Given the description of an element on the screen output the (x, y) to click on. 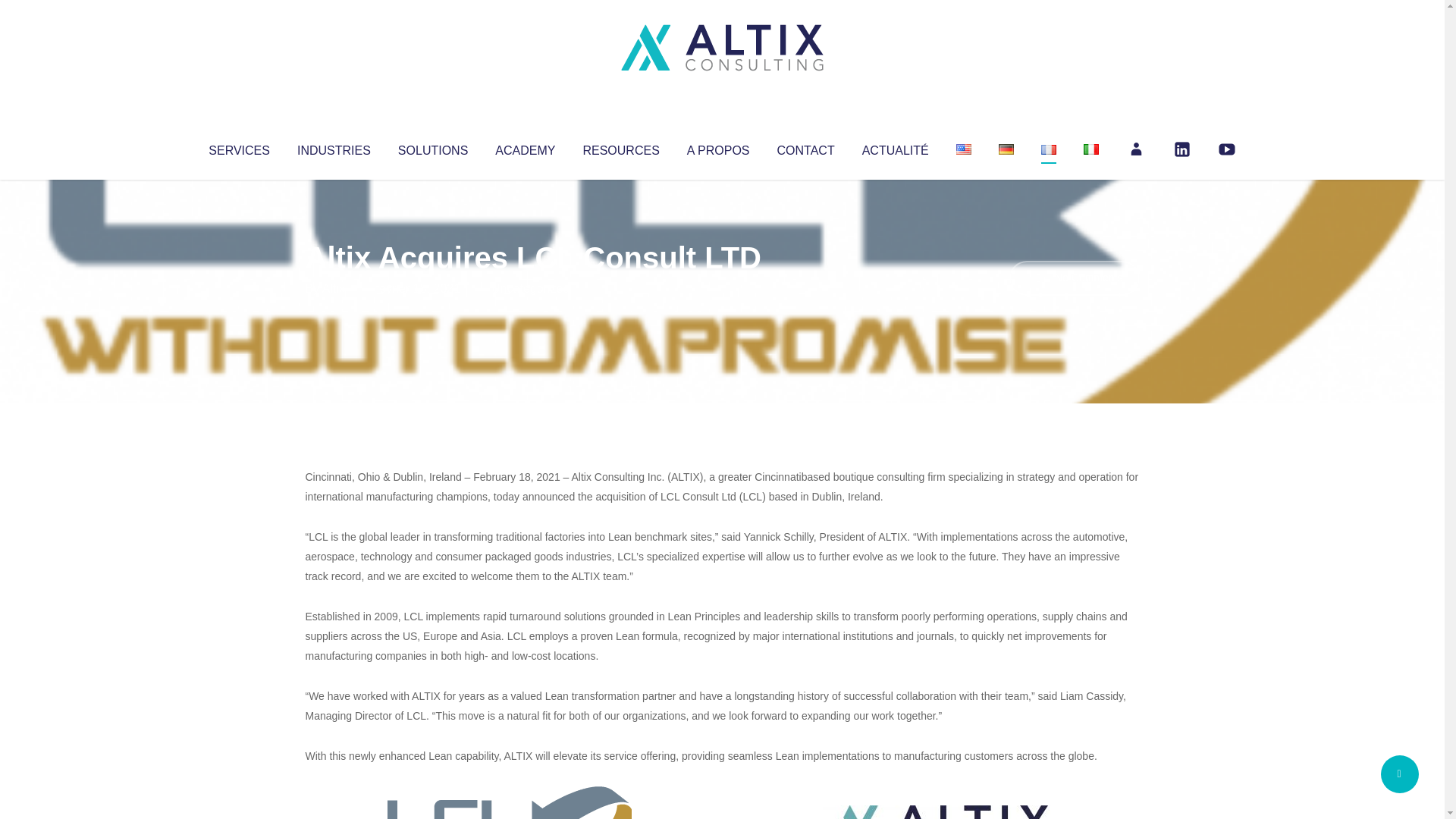
SOLUTIONS (432, 146)
No Comments (1073, 278)
RESOURCES (620, 146)
SERVICES (238, 146)
Altix (333, 287)
Uncategorized (530, 287)
A PROPOS (718, 146)
ACADEMY (524, 146)
Articles par Altix (333, 287)
INDUSTRIES (334, 146)
